Given the description of an element on the screen output the (x, y) to click on. 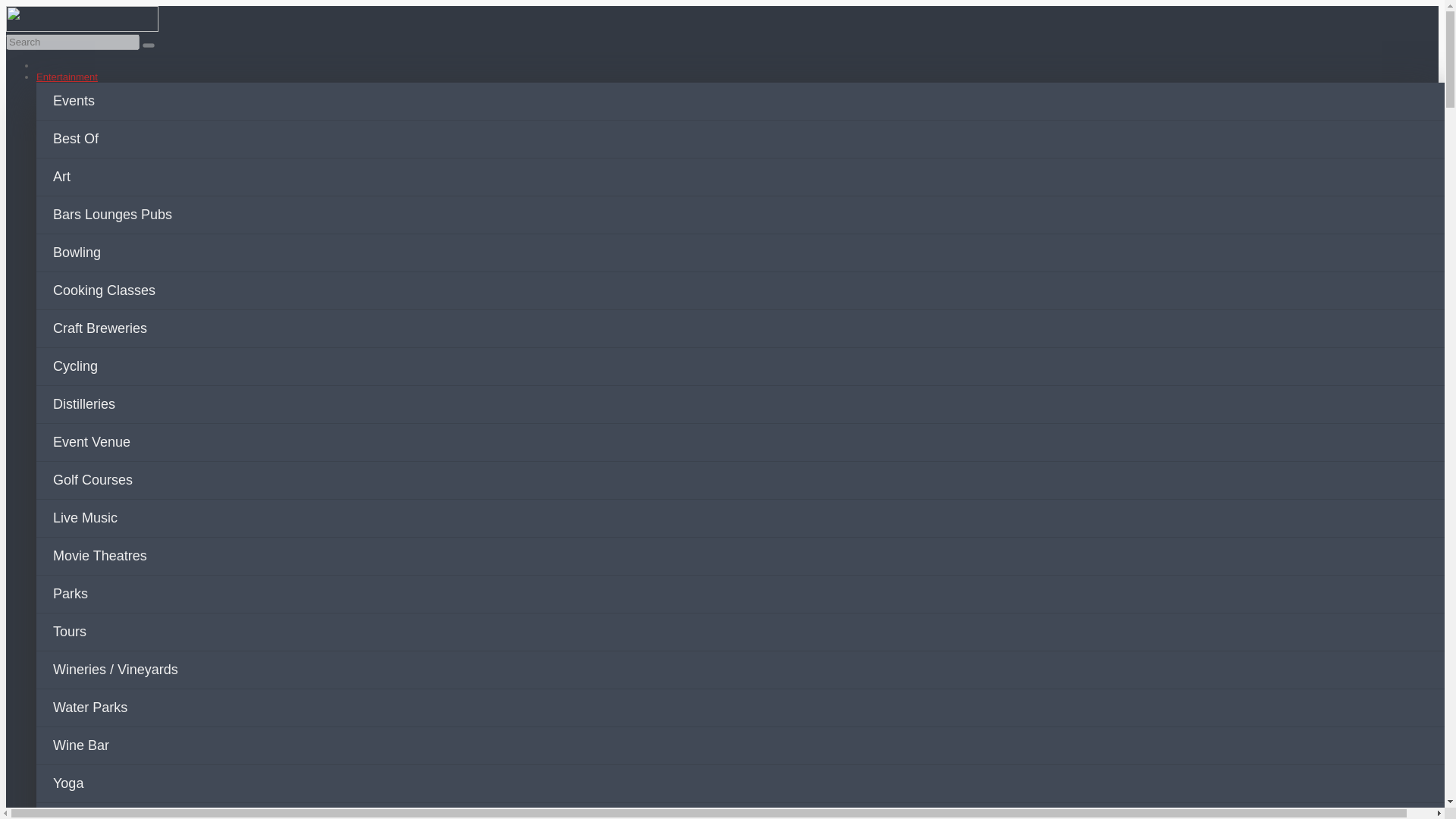
Search for: (72, 41)
Entertainment (66, 76)
